Given the description of an element on the screen output the (x, y) to click on. 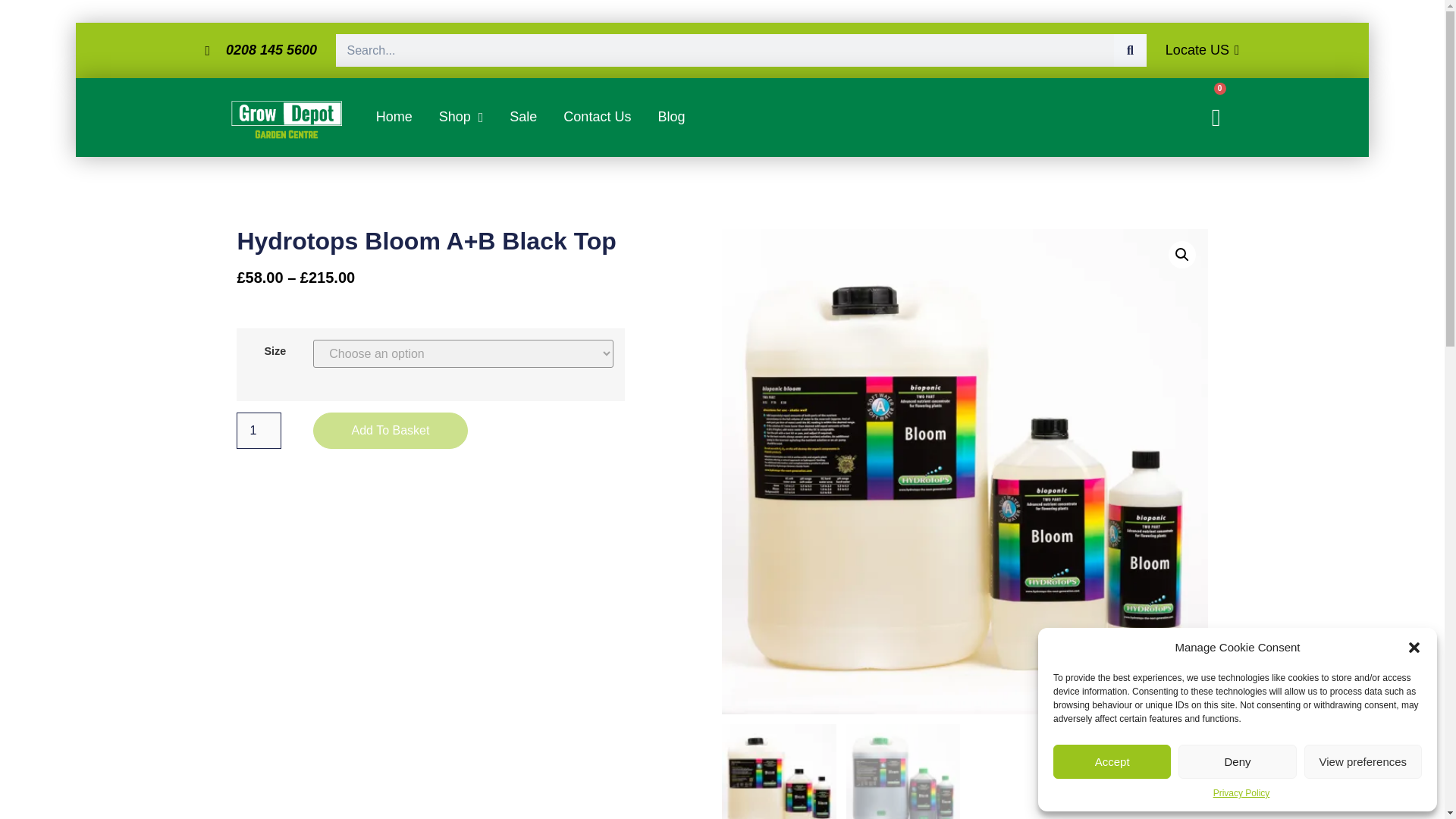
Locate US (1203, 49)
View preferences (1363, 761)
Accept (1111, 761)
Privacy Policy (1240, 793)
Shop (461, 117)
Deny (1236, 761)
1 (258, 430)
Home (393, 117)
